Given the description of an element on the screen output the (x, y) to click on. 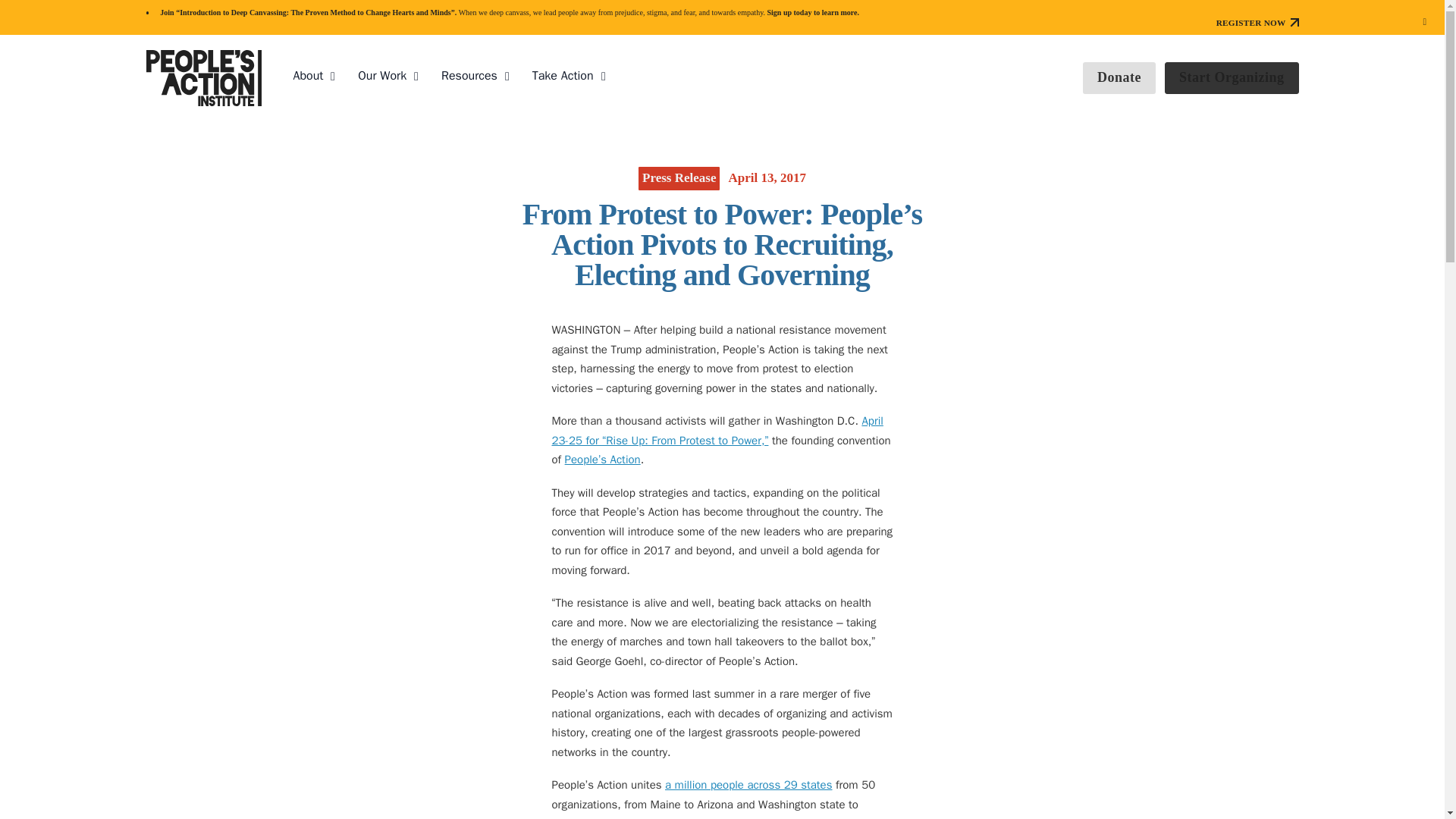
REGISTER NOW (1256, 22)
Resources (469, 75)
Our Work (382, 75)
About (307, 75)
Take Action (563, 75)
